Given the description of an element on the screen output the (x, y) to click on. 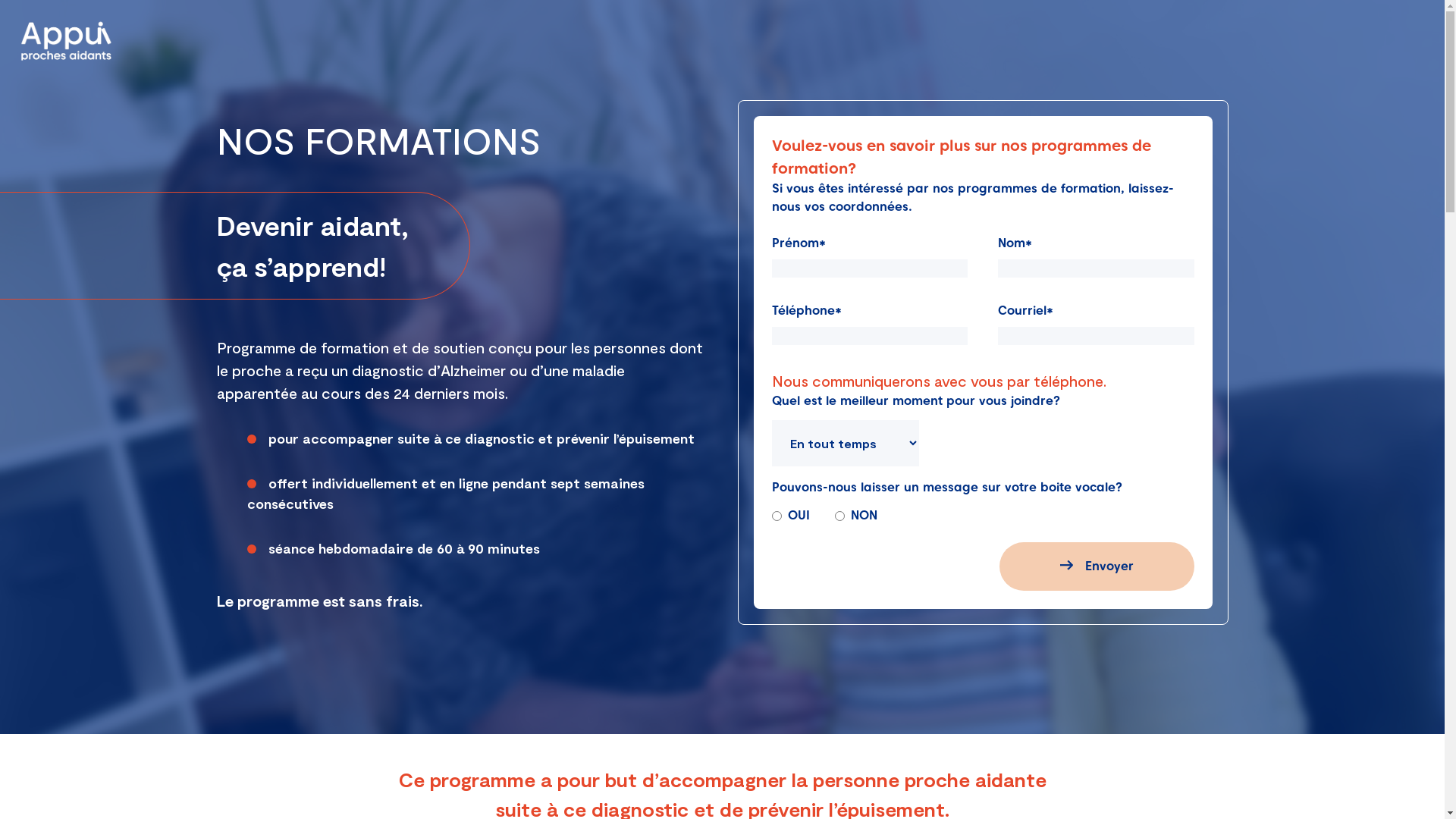
Envoyer Element type: text (1096, 566)
